Given the description of an element on the screen output the (x, y) to click on. 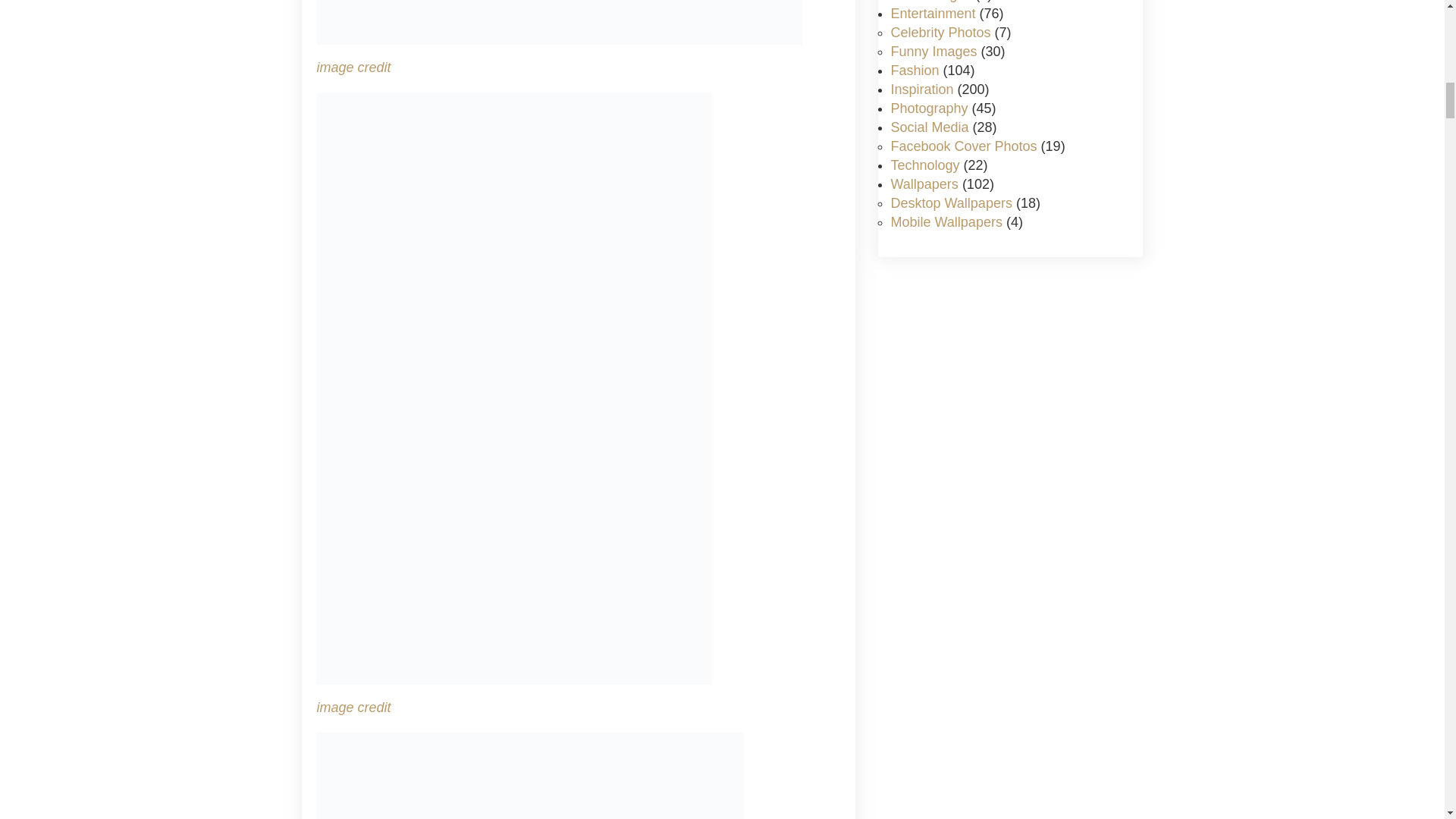
image credit (354, 67)
image credit (354, 707)
